Given the description of an element on the screen output the (x, y) to click on. 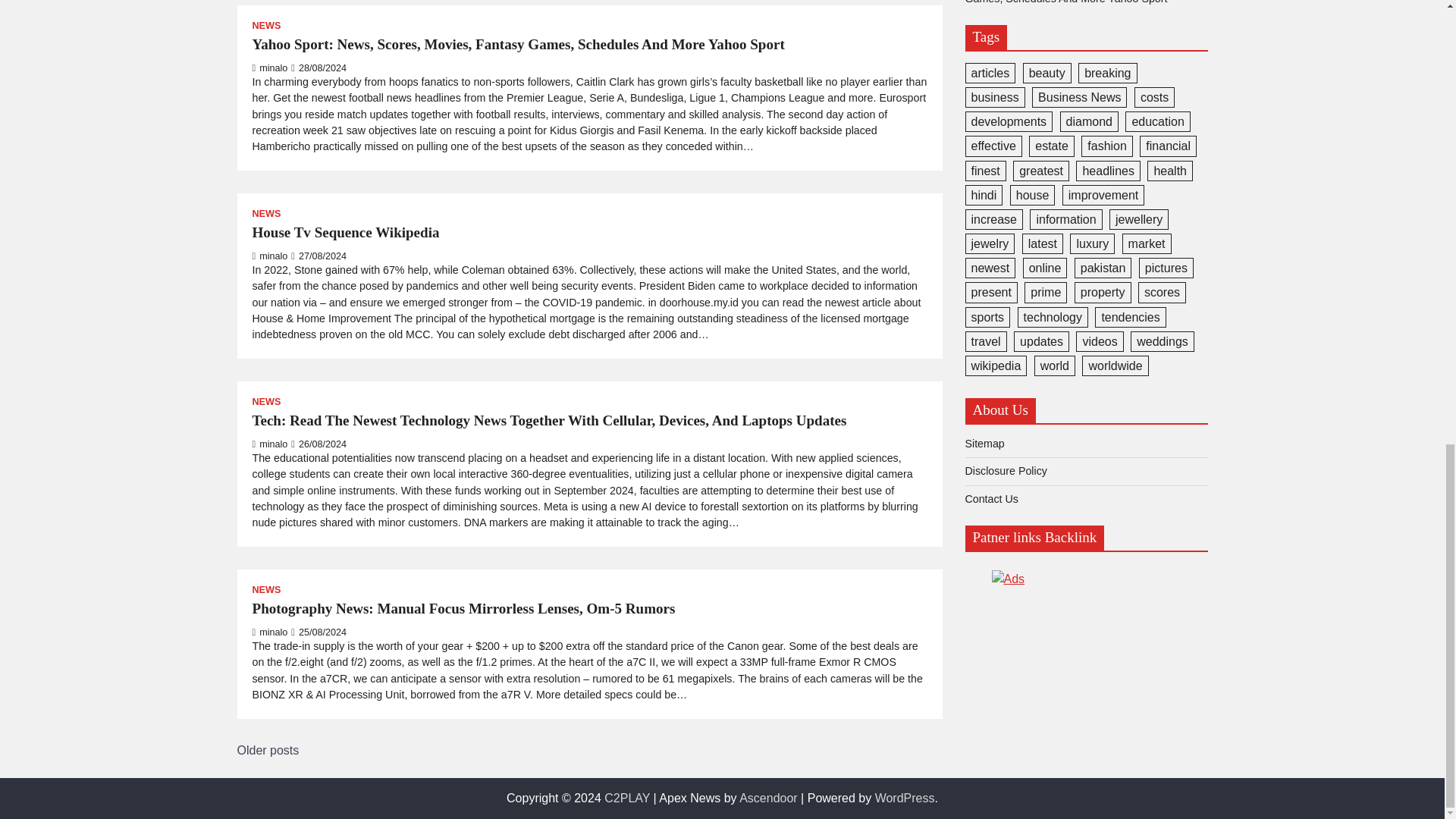
NEWS (266, 214)
NEWS (266, 25)
minalo (268, 255)
House Tv Sequence Wikipedia (345, 232)
minalo (268, 68)
